Given the description of an element on the screen output the (x, y) to click on. 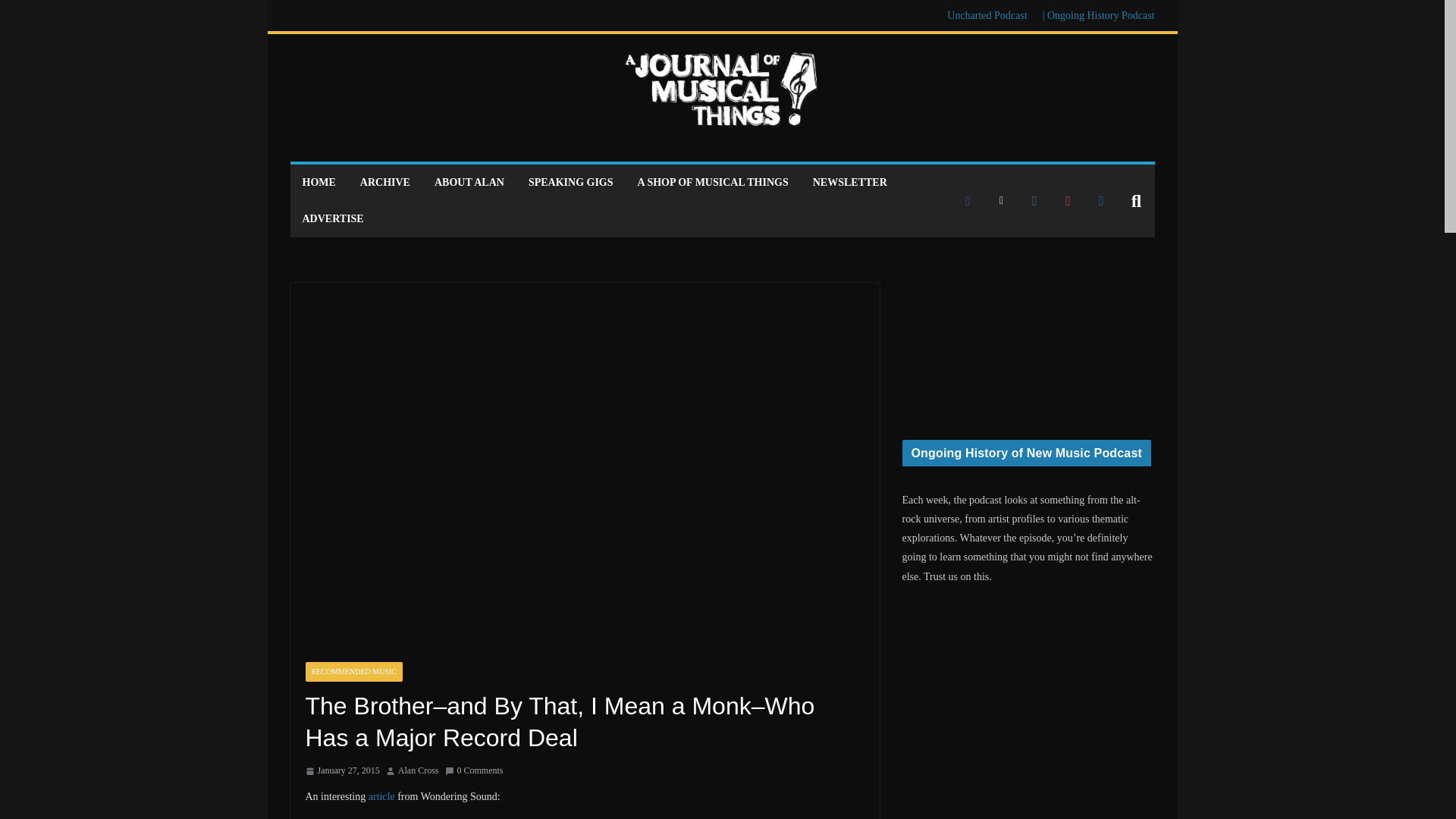
Alan Cross (418, 770)
SPEAKING GIGS (570, 182)
HOME (317, 182)
10:15 am (341, 770)
ABOUT ALAN (468, 182)
ARCHIVE (384, 182)
A SHOP OF MUSICAL THINGS (713, 182)
Uncharted Podcast (986, 15)
NEWSLETTER (849, 182)
article (381, 796)
